Given the description of an element on the screen output the (x, y) to click on. 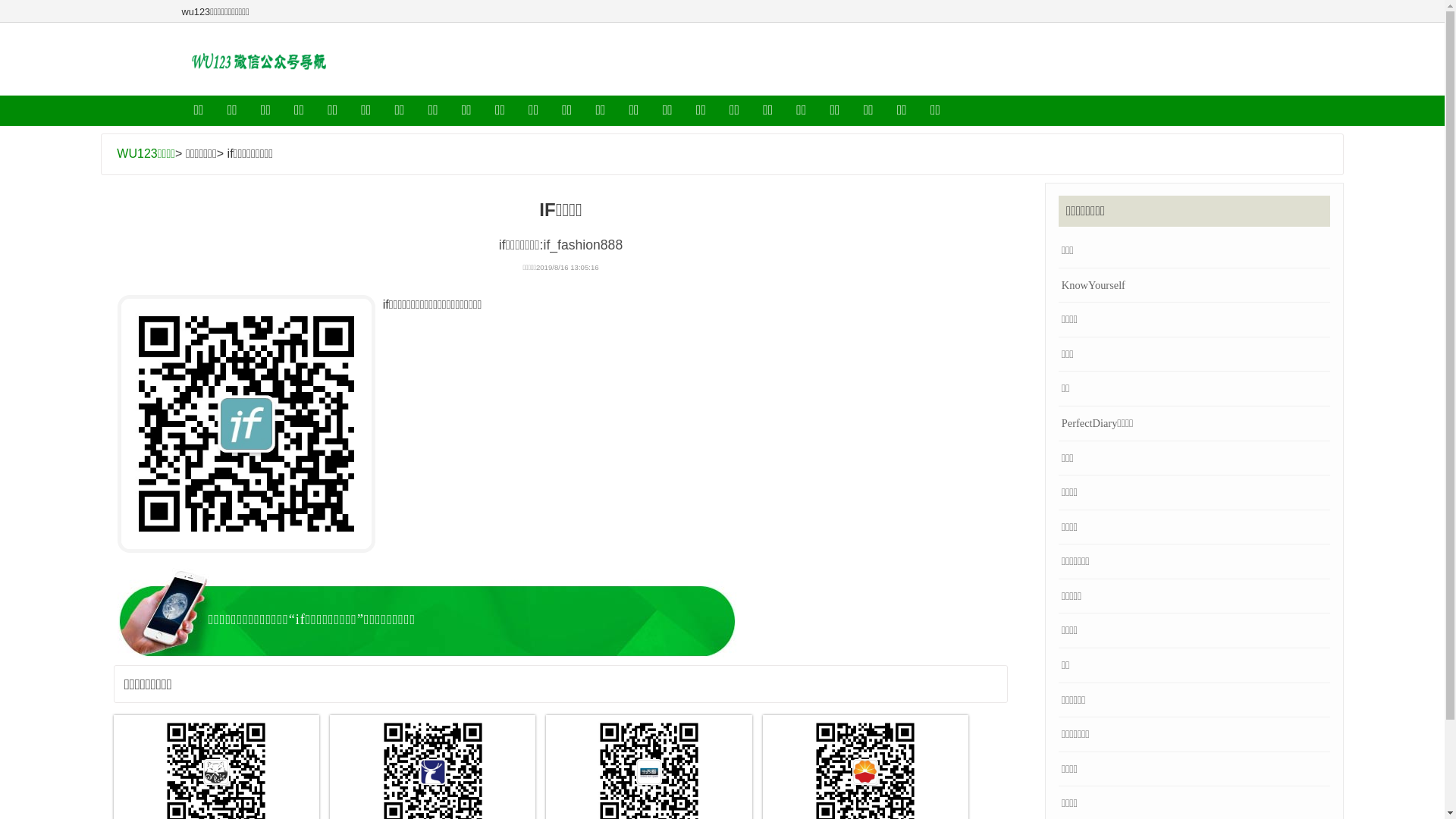
KnowYourself Element type: text (1194, 285)
